Given the description of an element on the screen output the (x, y) to click on. 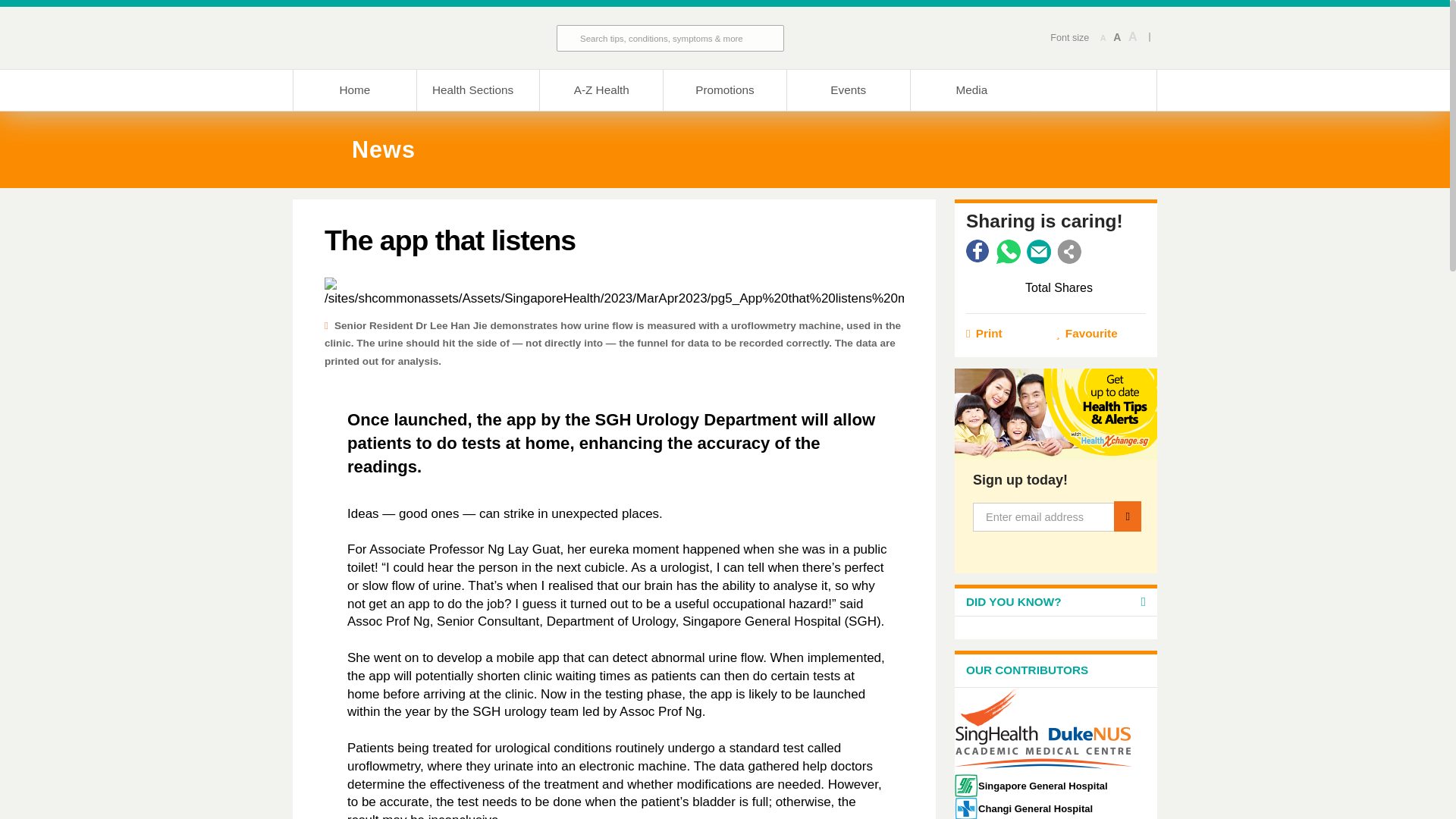
Media (971, 89)
A-Z Health (600, 89)
Events (848, 89)
Promotions (724, 89)
Facebook (978, 251)
Health Sections (478, 89)
Email Us (1038, 251)
Share this Page (1069, 251)
A (1132, 37)
Home (354, 89)
Favourite (1100, 333)
WhatsApp (1007, 251)
